Given the description of an element on the screen output the (x, y) to click on. 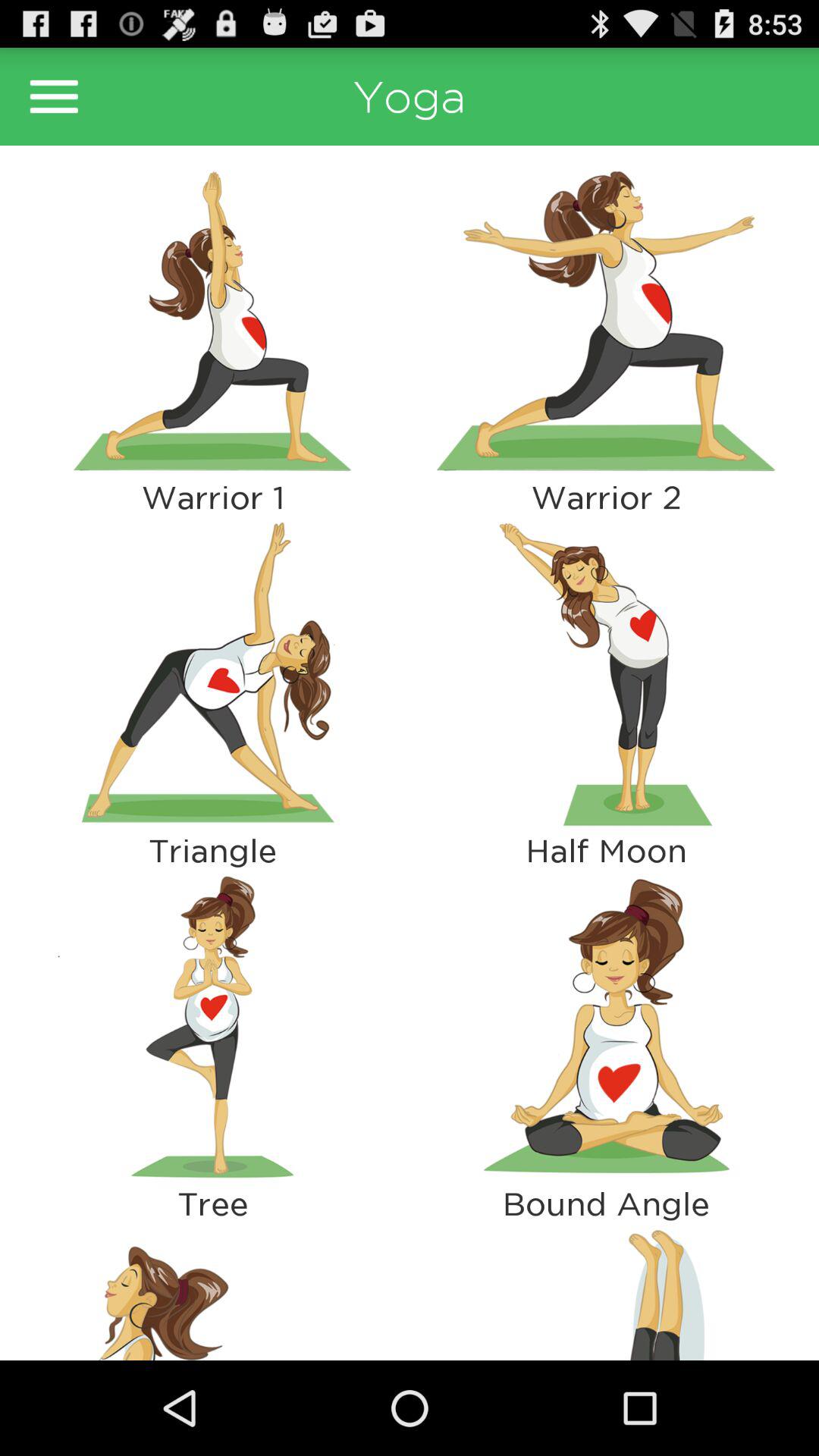
see pose (606, 673)
